Given the description of an element on the screen output the (x, y) to click on. 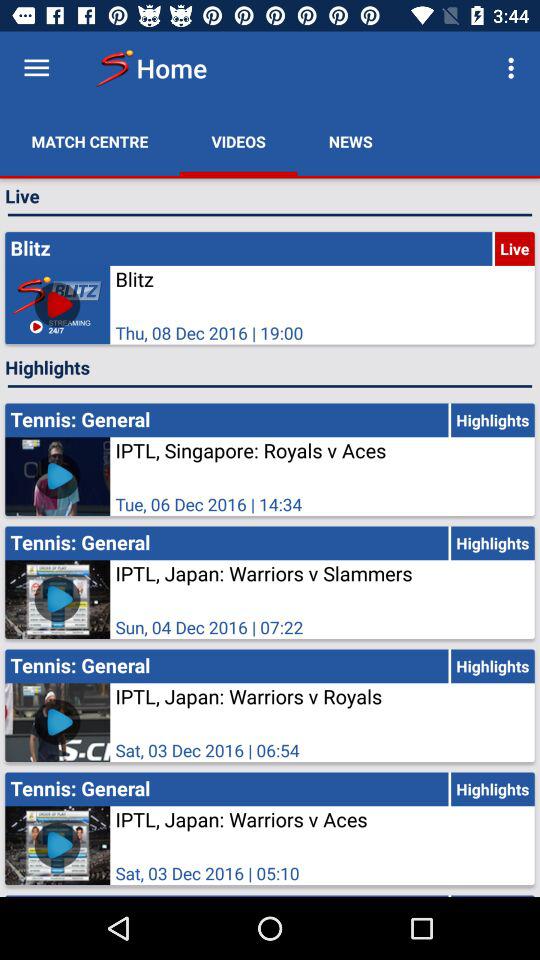
select the item above match centre (36, 68)
